Given the description of an element on the screen output the (x, y) to click on. 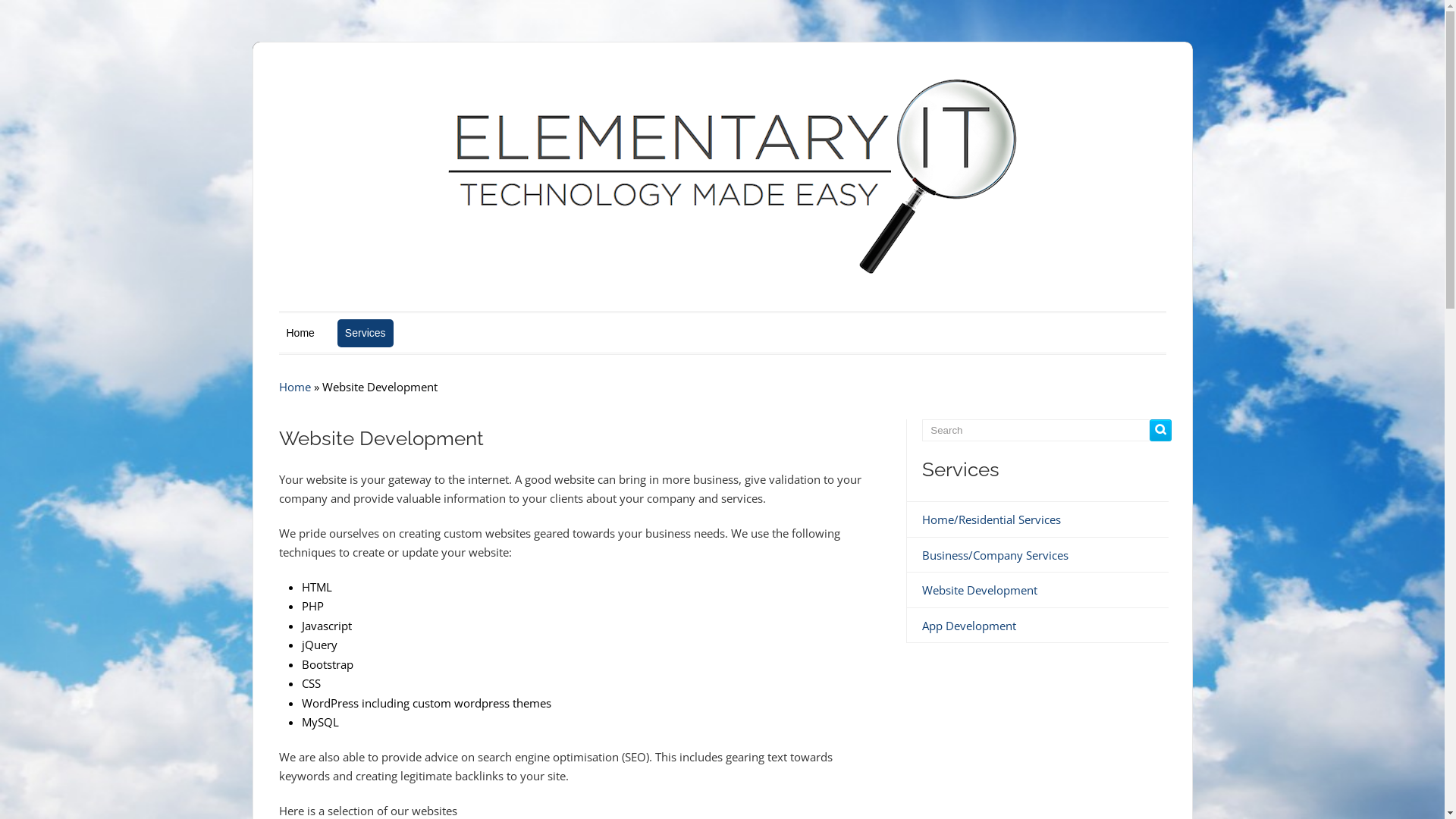
Home Element type: text (300, 332)
Home Element type: text (294, 386)
Home/Residential Services Element type: text (991, 519)
Services Element type: text (365, 332)
App Development Element type: text (969, 625)
Website Development Element type: text (979, 589)
Business/Company Services Element type: text (995, 554)
Search Element type: text (1160, 430)
